Given the description of an element on the screen output the (x, y) to click on. 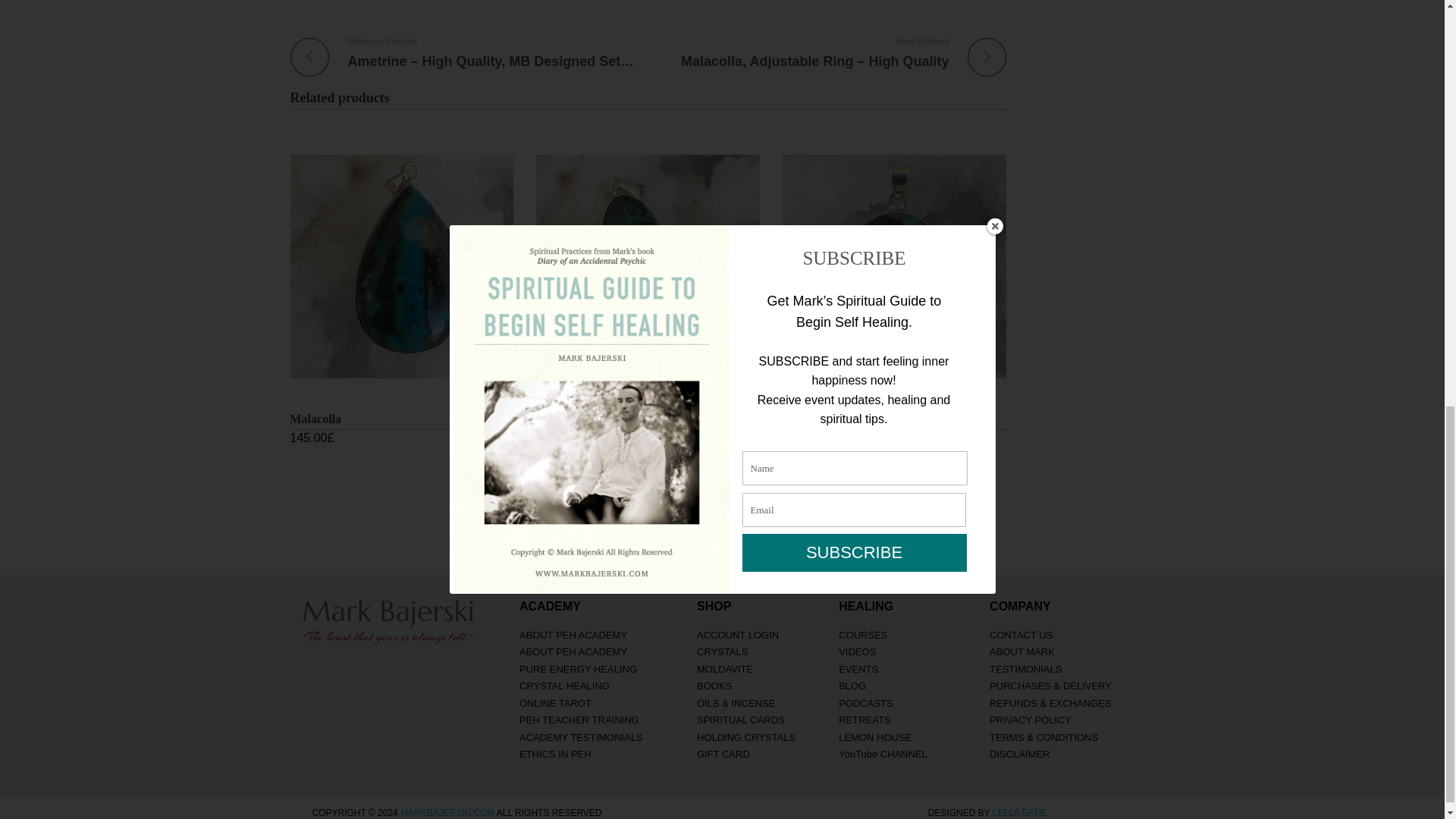
MBLogoTransparent (389, 619)
